Given the description of an element on the screen output the (x, y) to click on. 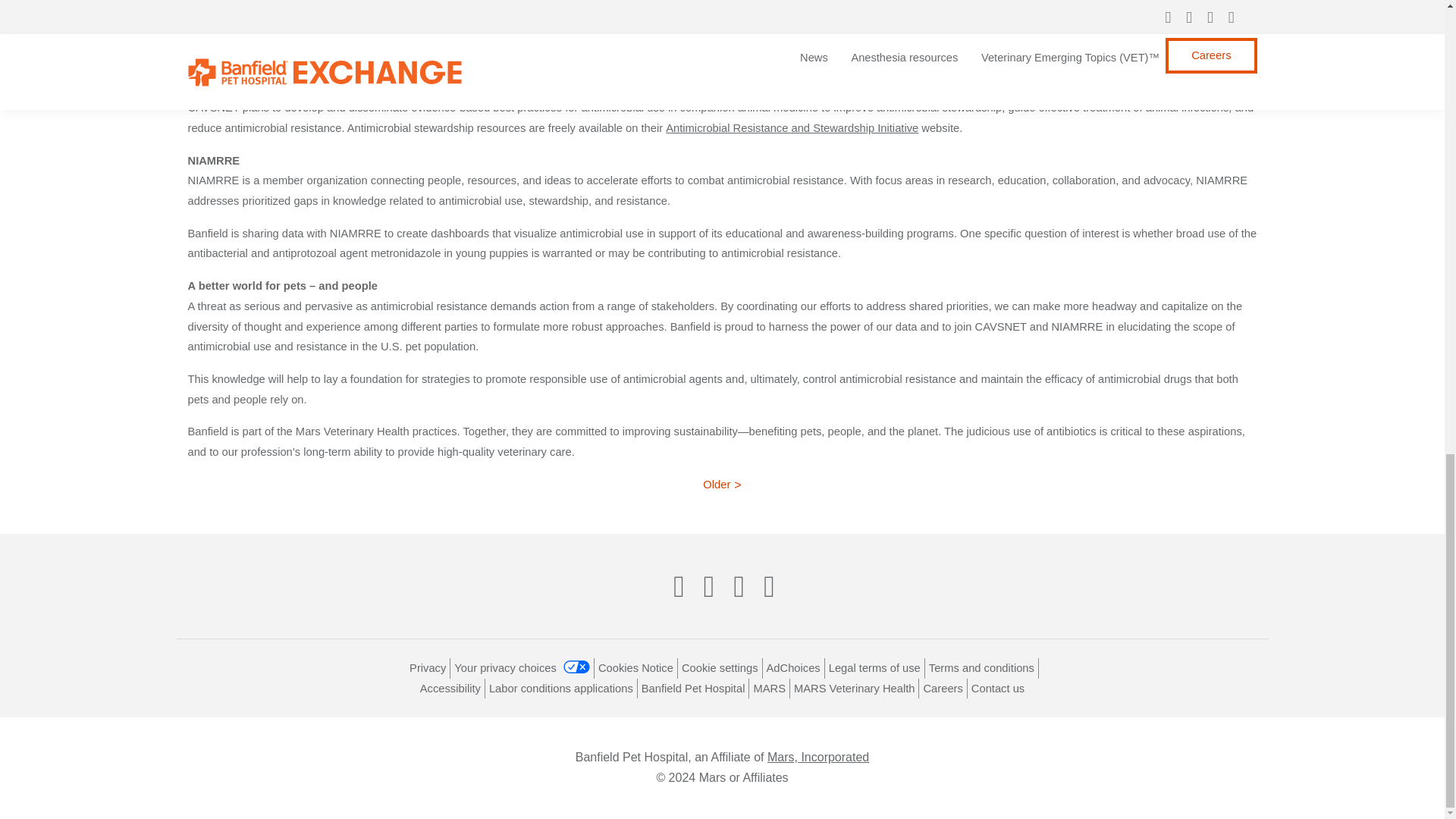
Antimicrobial Resistance and Stewardship Initiative (791, 128)
MARS Veterinary Health (854, 688)
AdChoices (794, 667)
Cookie settings (719, 667)
Labor conditions applications (561, 688)
Older (722, 484)
Your privacy choices (521, 667)
Privacy (427, 667)
Opens in new tab (450, 688)
Terms and conditions (980, 667)
